Given the description of an element on the screen output the (x, y) to click on. 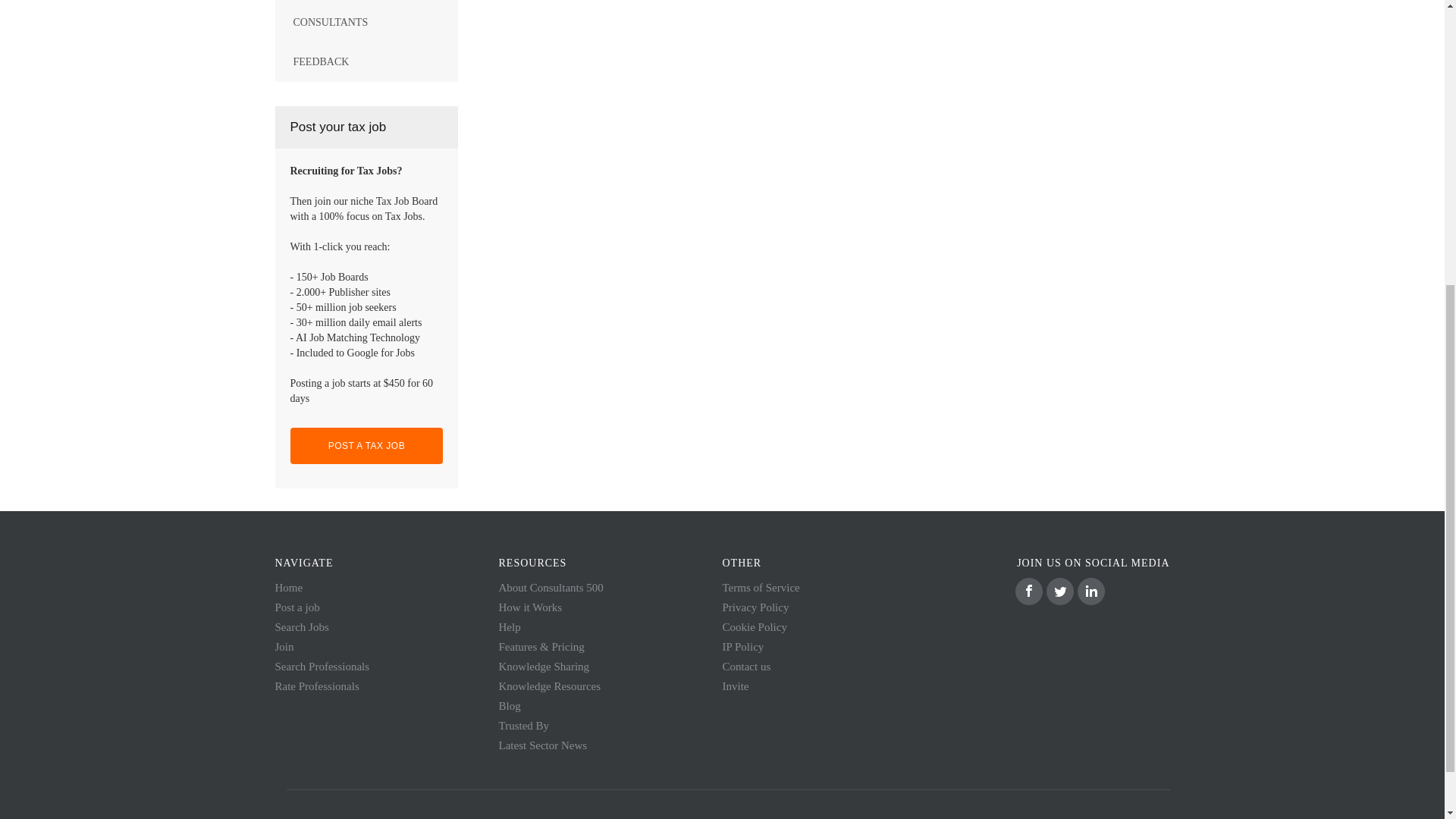
Search Professionals (322, 666)
Post a job (296, 607)
IP Policy (742, 646)
About Consultants 500 (551, 587)
How it Works (530, 607)
Cookie Policy (754, 626)
POST A TAX JOB (365, 445)
Privacy Policy (755, 607)
Knowledge Resources (550, 686)
Blog (510, 705)
Terms of Service (760, 587)
FEEDBACK (366, 61)
Rate Professionals (316, 686)
Trusted By (524, 725)
Knowledge Sharing (544, 666)
